Given the description of an element on the screen output the (x, y) to click on. 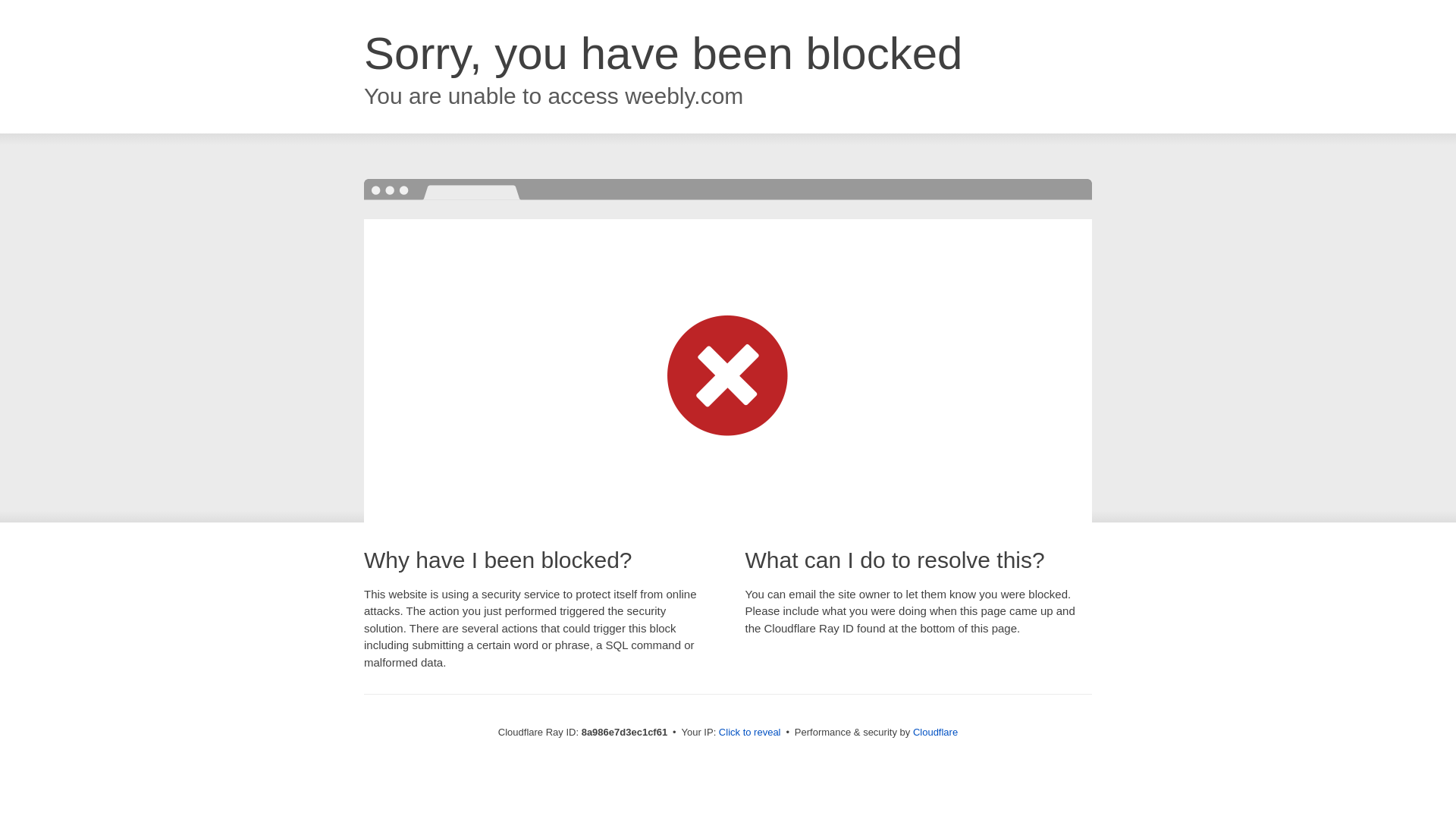
Click to reveal (749, 732)
Cloudflare (935, 731)
